Given the description of an element on the screen output the (x, y) to click on. 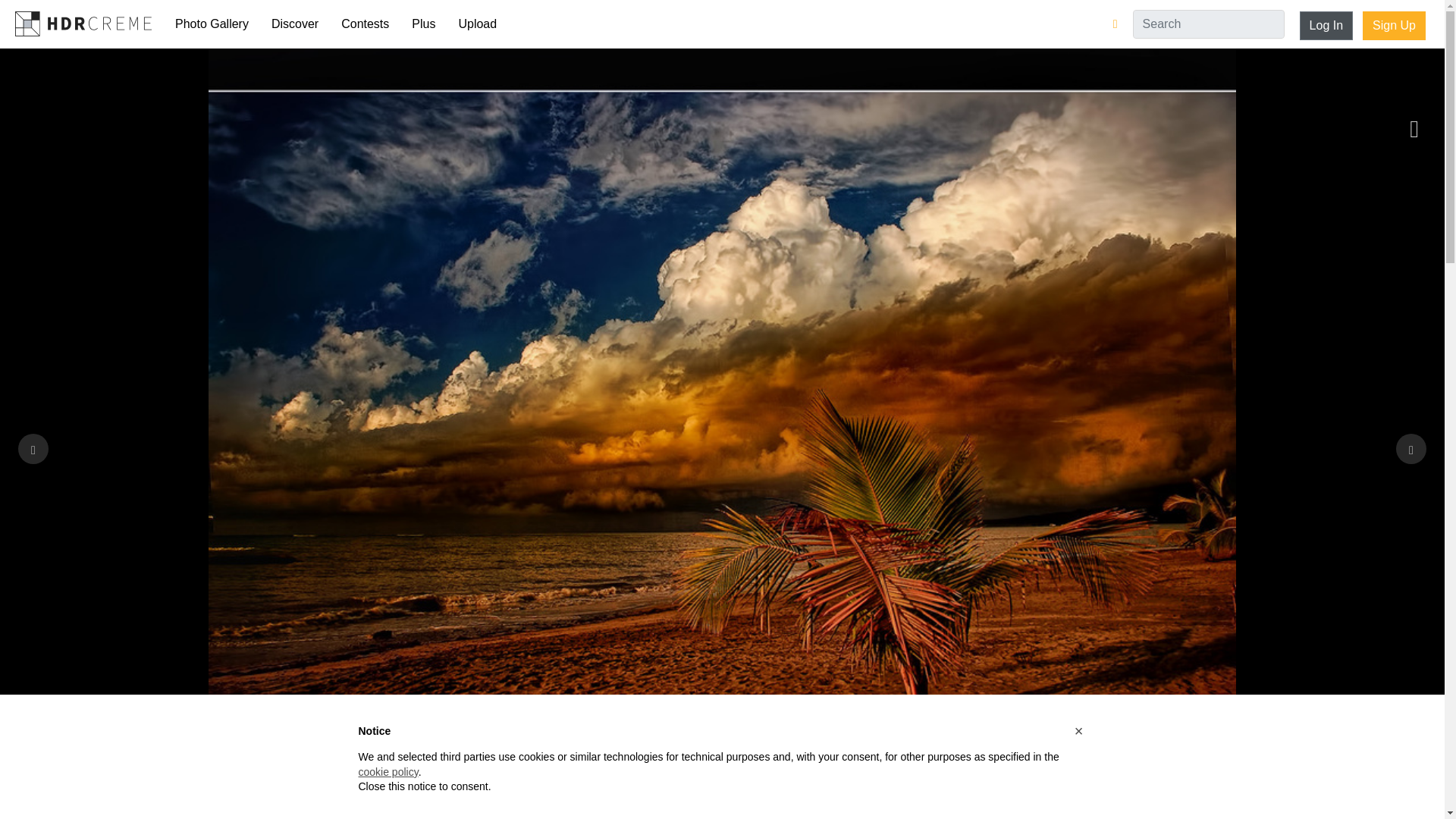
Photo Gallery (211, 24)
Contests (365, 24)
Discover (295, 24)
Upload (477, 24)
Next Picture (1411, 449)
hdrcreme logo (82, 23)
Previous Picture (32, 449)
Sign Up (1393, 25)
Log In (1326, 25)
hdrcreme logo (82, 23)
Plus (423, 24)
Home Page (82, 23)
